Given the description of an element on the screen output the (x, y) to click on. 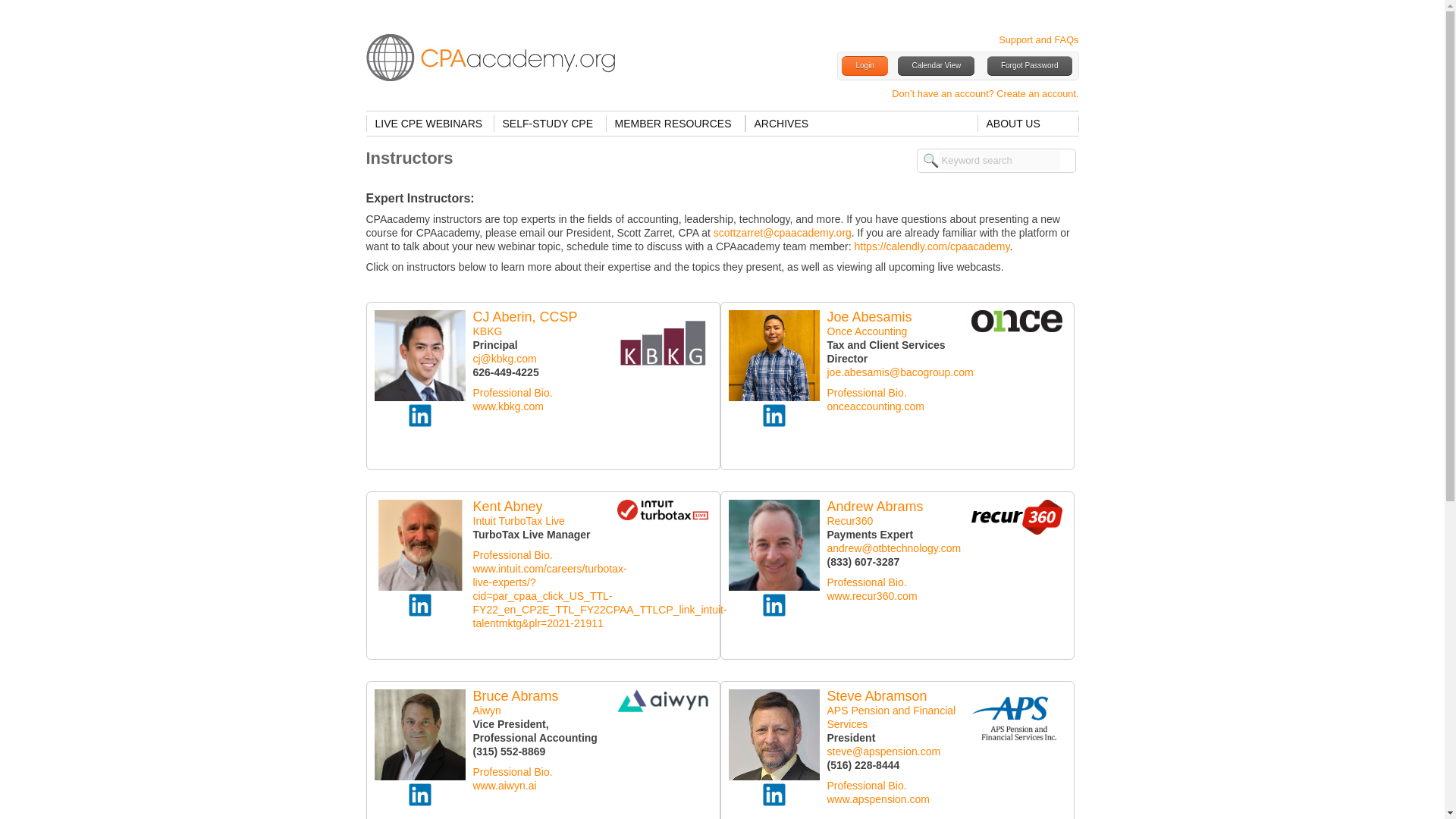
Login (863, 66)
MEMBER RESOURCES (674, 123)
Joe Abesamis (869, 316)
SELF-STUDY CPE (549, 123)
Support and FAQs (1038, 39)
www.kbkg.com (508, 406)
CJ Aberin, CCSP (525, 316)
KBKG (487, 331)
Once Accounting (867, 331)
Professional Bio. (513, 392)
